Given the description of an element on the screen output the (x, y) to click on. 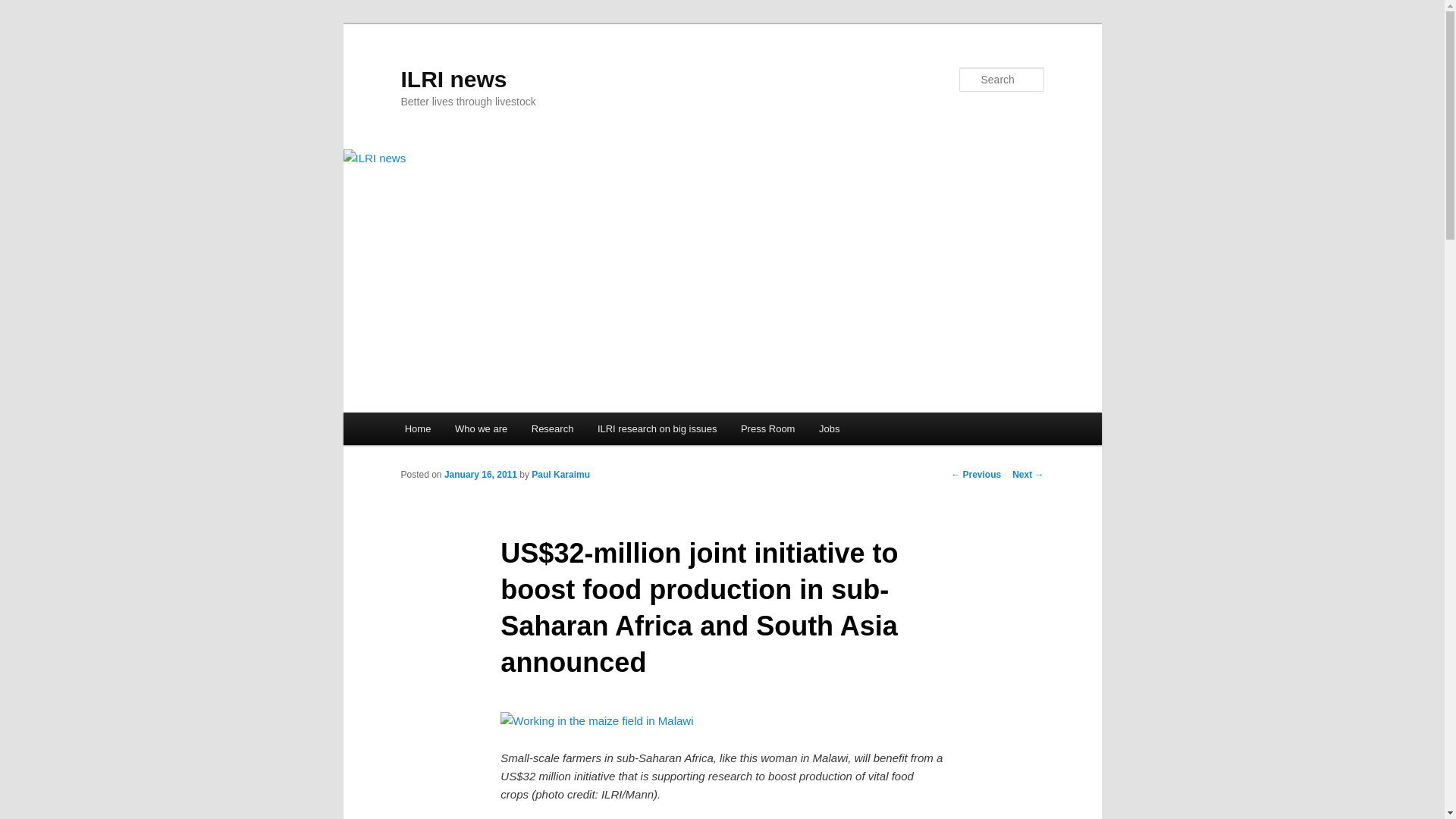
Who we are (480, 428)
ILRI news (453, 78)
ILRI research on big issues (657, 428)
View all posts by Paul Karaimu (560, 474)
3:30 pm (480, 474)
January 16, 2011 (480, 474)
Research (552, 428)
Search (24, 8)
Working in the maize field in Malawi by ILRI, on Flickr (596, 720)
Paul Karaimu (560, 474)
Press Room (767, 428)
Jobs (828, 428)
Home (417, 428)
Who we are (480, 428)
